Given the description of an element on the screen output the (x, y) to click on. 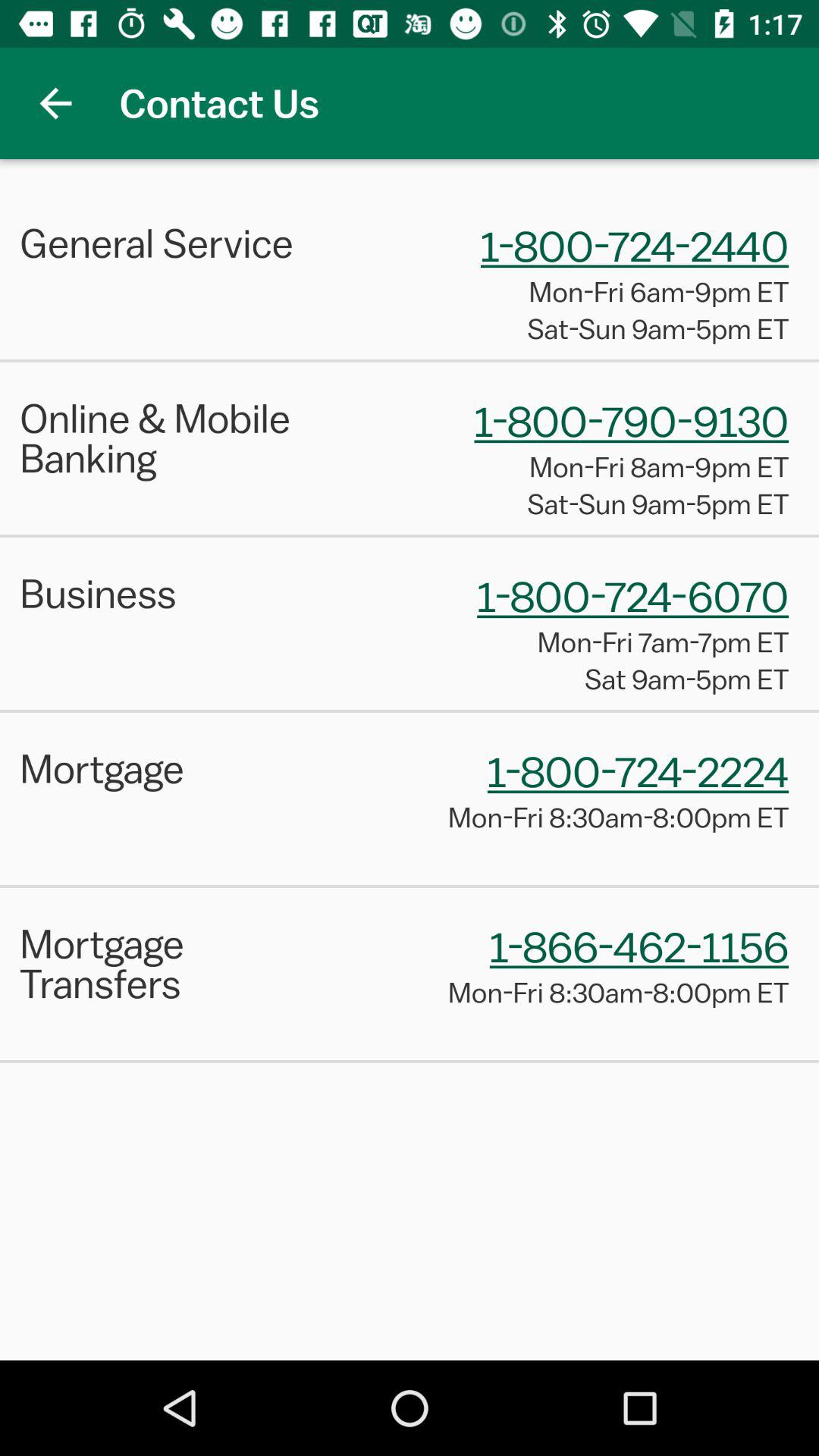
turn on the item above mortgage (409, 710)
